Given the description of an element on the screen output the (x, y) to click on. 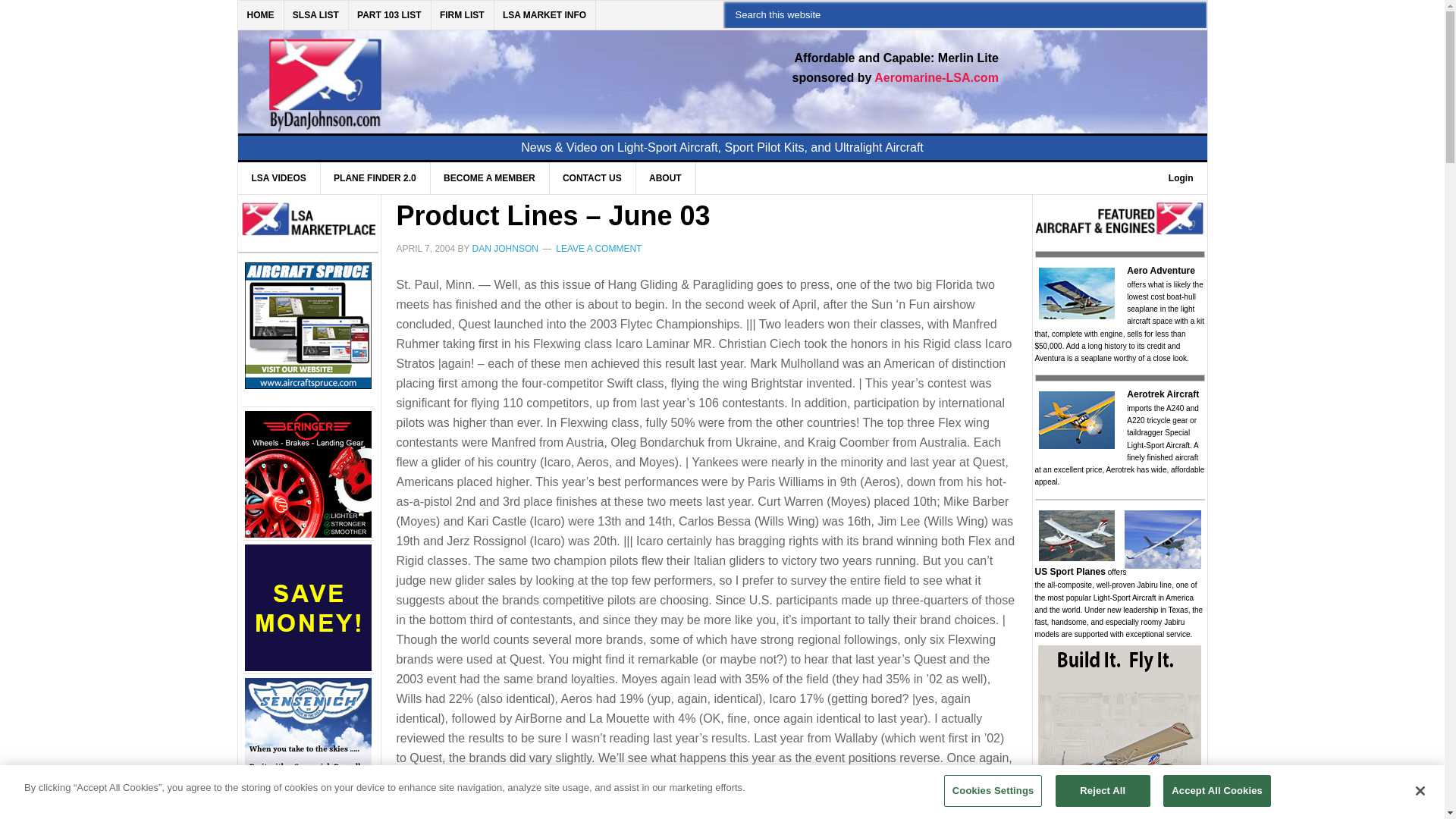
HOME (260, 14)
DAN JOHNSON (504, 248)
LEAVE A COMMENT (599, 248)
LSA MARKET INFO (544, 14)
BECOME A MEMBER (488, 178)
ABOUT (664, 178)
SLSA LIST (316, 14)
PLANE FINDER 2.0 (375, 178)
BYDANJOHNSON.COM (469, 73)
LSA VIDEOS (279, 178)
FIRM LIST (462, 14)
